Given the description of an element on the screen output the (x, y) to click on. 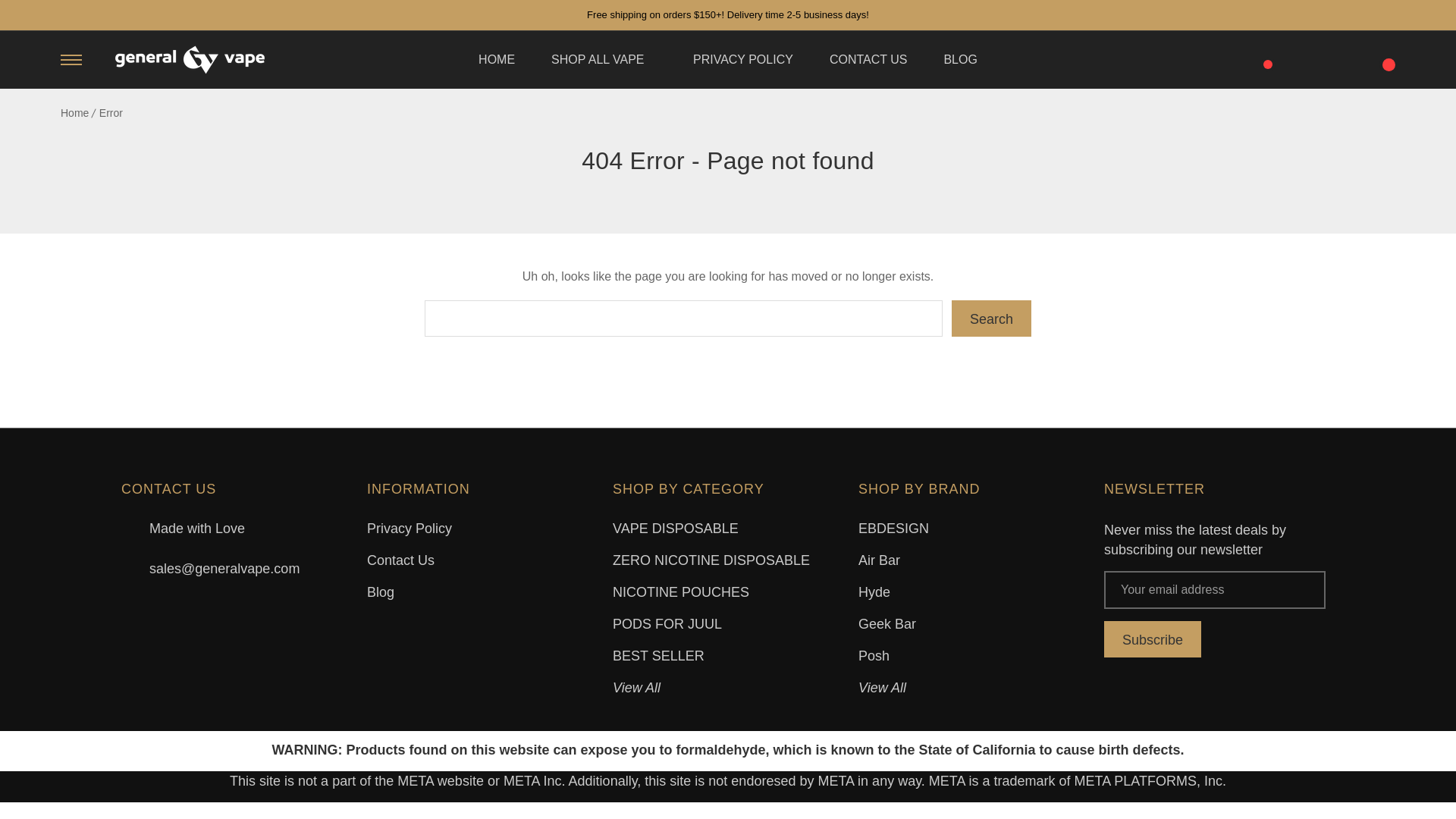
BLOG (959, 59)
General Vape (189, 60)
Subscribe (1152, 638)
Search (991, 318)
HOME (497, 59)
PRIVACY POLICY (743, 59)
Toggle menu (71, 60)
SHOP ALL VAPE (603, 59)
CONTACT US (868, 59)
Compare (1262, 56)
